Given the description of an element on the screen output the (x, y) to click on. 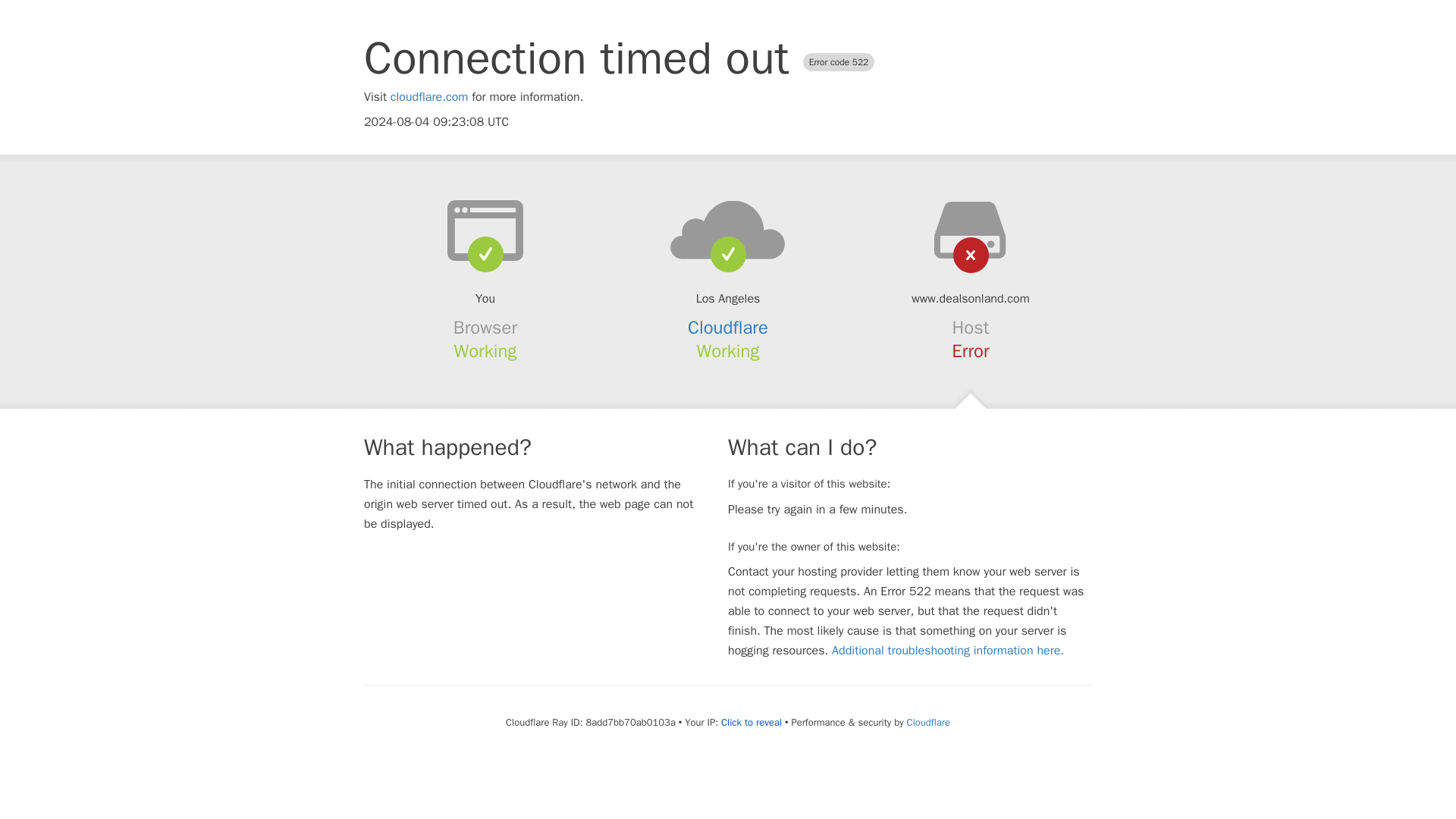
cloudflare.com (429, 96)
Cloudflare (928, 721)
Additional troubleshooting information here. (947, 650)
Cloudflare (727, 327)
Click to reveal (750, 722)
